Given the description of an element on the screen output the (x, y) to click on. 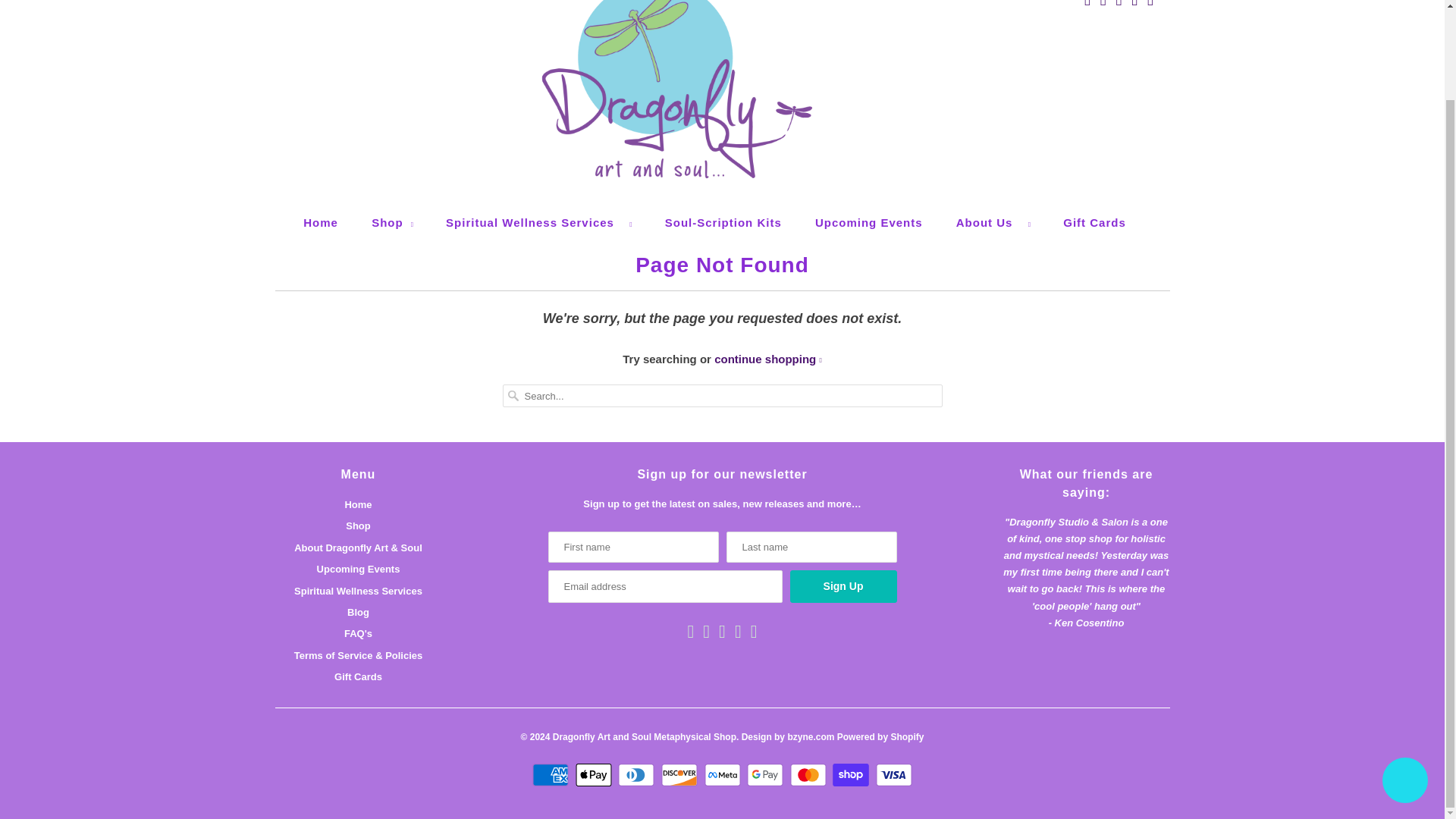
Visa (894, 774)
American Express (552, 774)
Diners Club (637, 774)
Apple Pay (595, 774)
Discover (681, 774)
Shop Pay (852, 774)
Mastercard (809, 774)
Meta Pay (723, 774)
Google Pay (766, 774)
